Given the description of an element on the screen output the (x, y) to click on. 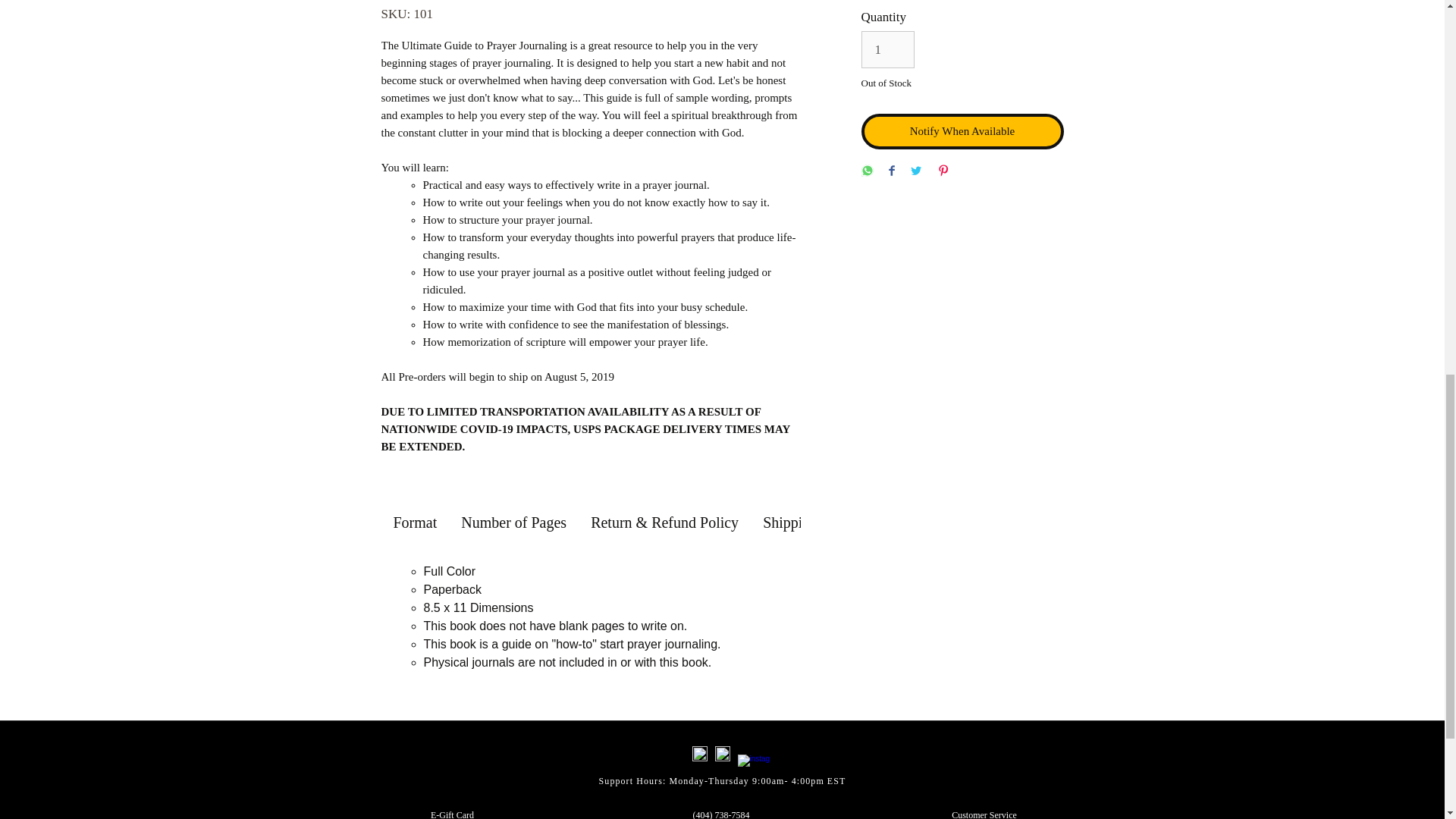
1 (888, 49)
E-Gift Card (452, 814)
Use right and left arrows to navigate between tabs (512, 522)
Use right and left arrows to navigate between tabs (826, 522)
Use right and left arrows to navigate between tabs (413, 522)
Notify When Available (962, 131)
Use right and left arrows to navigate between tabs (664, 522)
Customer Service (984, 814)
